Given the description of an element on the screen output the (x, y) to click on. 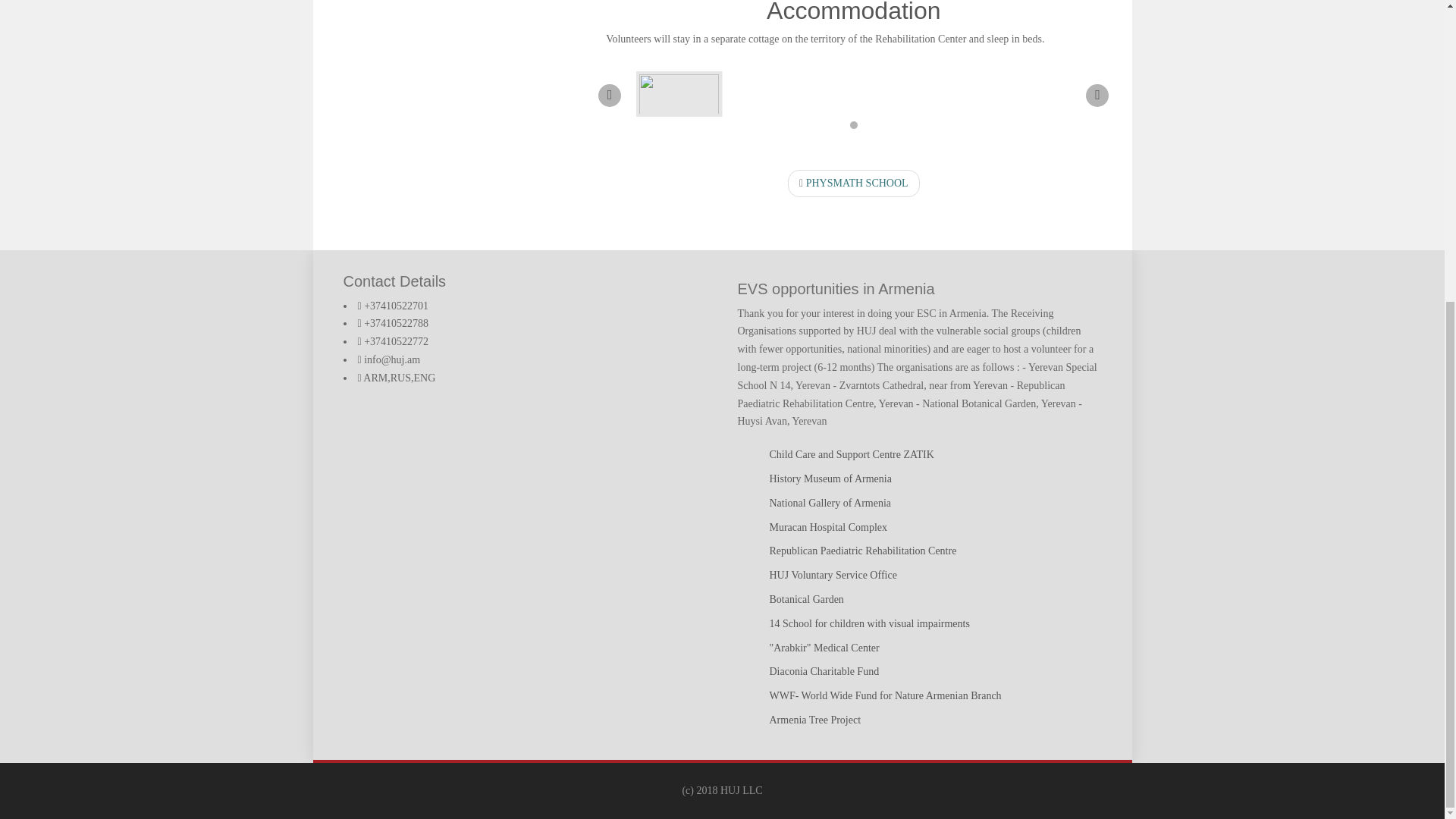
WWF- World Wide Fund for Nature Armenian Branch (884, 695)
Armenia Tree Project (814, 719)
Republican Paediatric Rehabilitation Centre (862, 550)
HUJ Voluntary Service Office (832, 574)
National Gallery of Armenia (829, 502)
Muracan Hospital Complex (827, 527)
Diaconia Charitable Fund (823, 671)
Botanical Garden (805, 599)
14 School for children with visual impairments (868, 623)
PHYSMATH SCHOOL (853, 183)
